Given the description of an element on the screen output the (x, y) to click on. 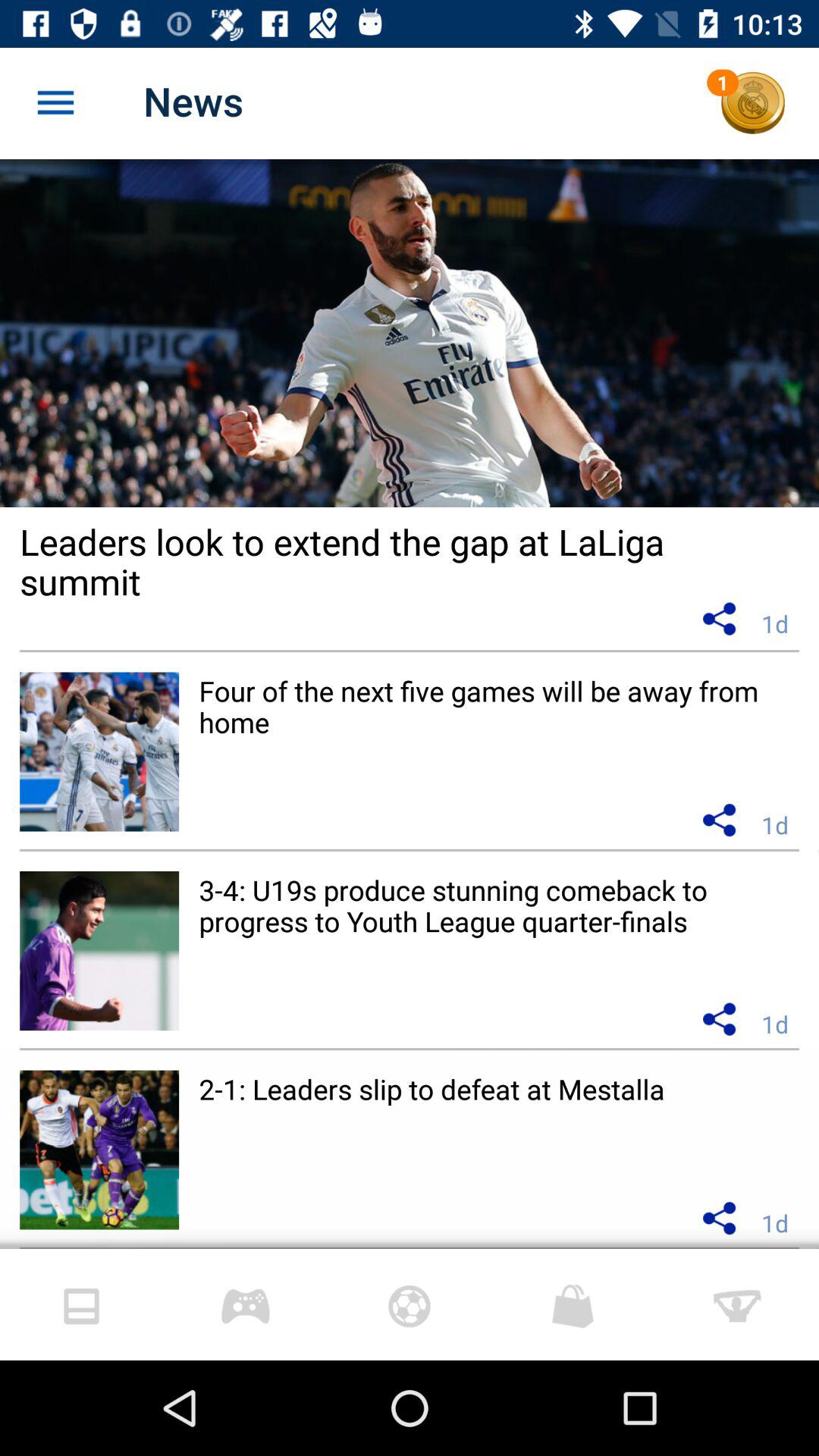
click on the first image at the bottom left (82, 1306)
